Given the description of an element on the screen output the (x, y) to click on. 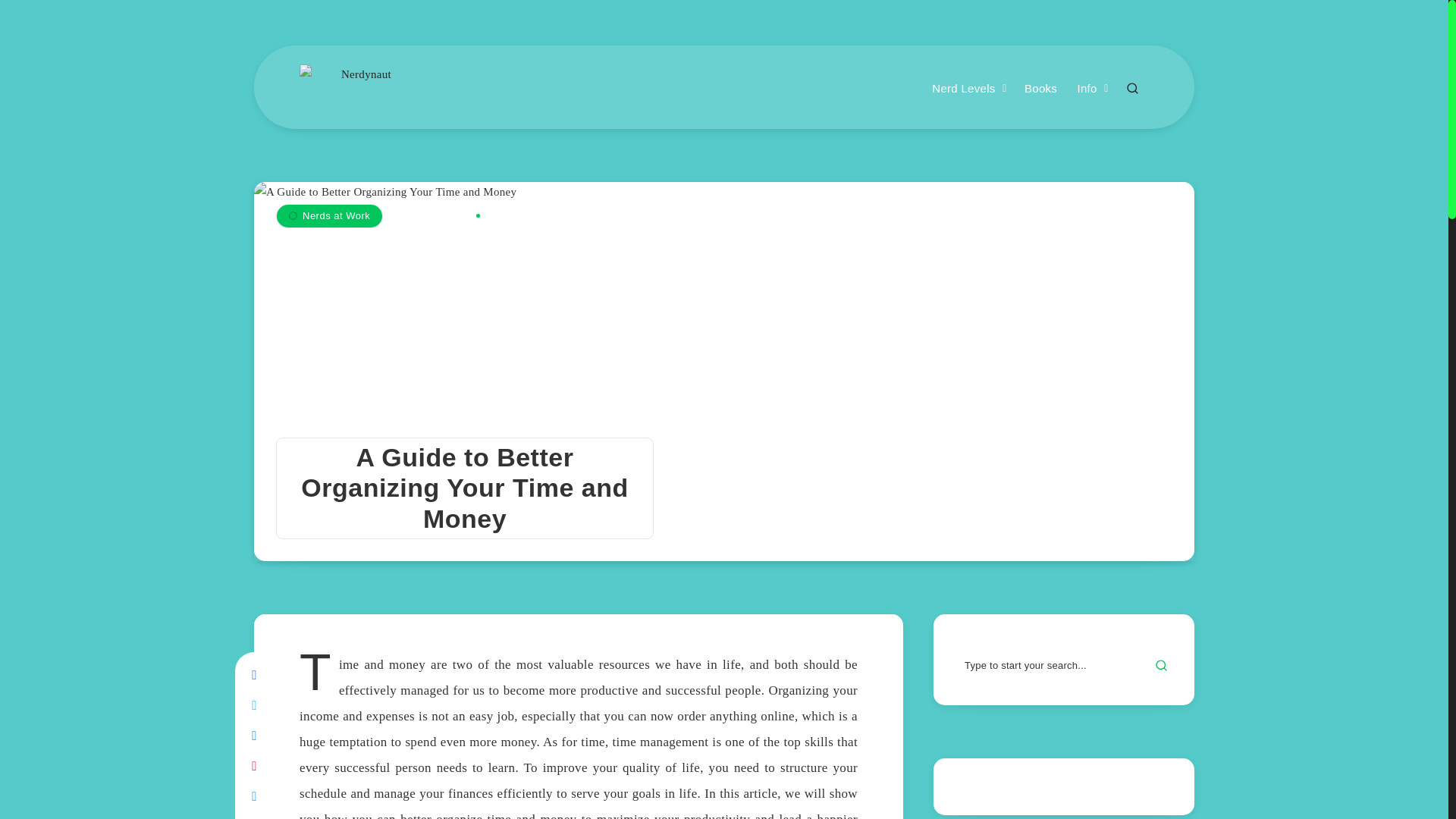
Books (1041, 88)
Nerd Levels (962, 88)
Info (1086, 88)
